Given the description of an element on the screen output the (x, y) to click on. 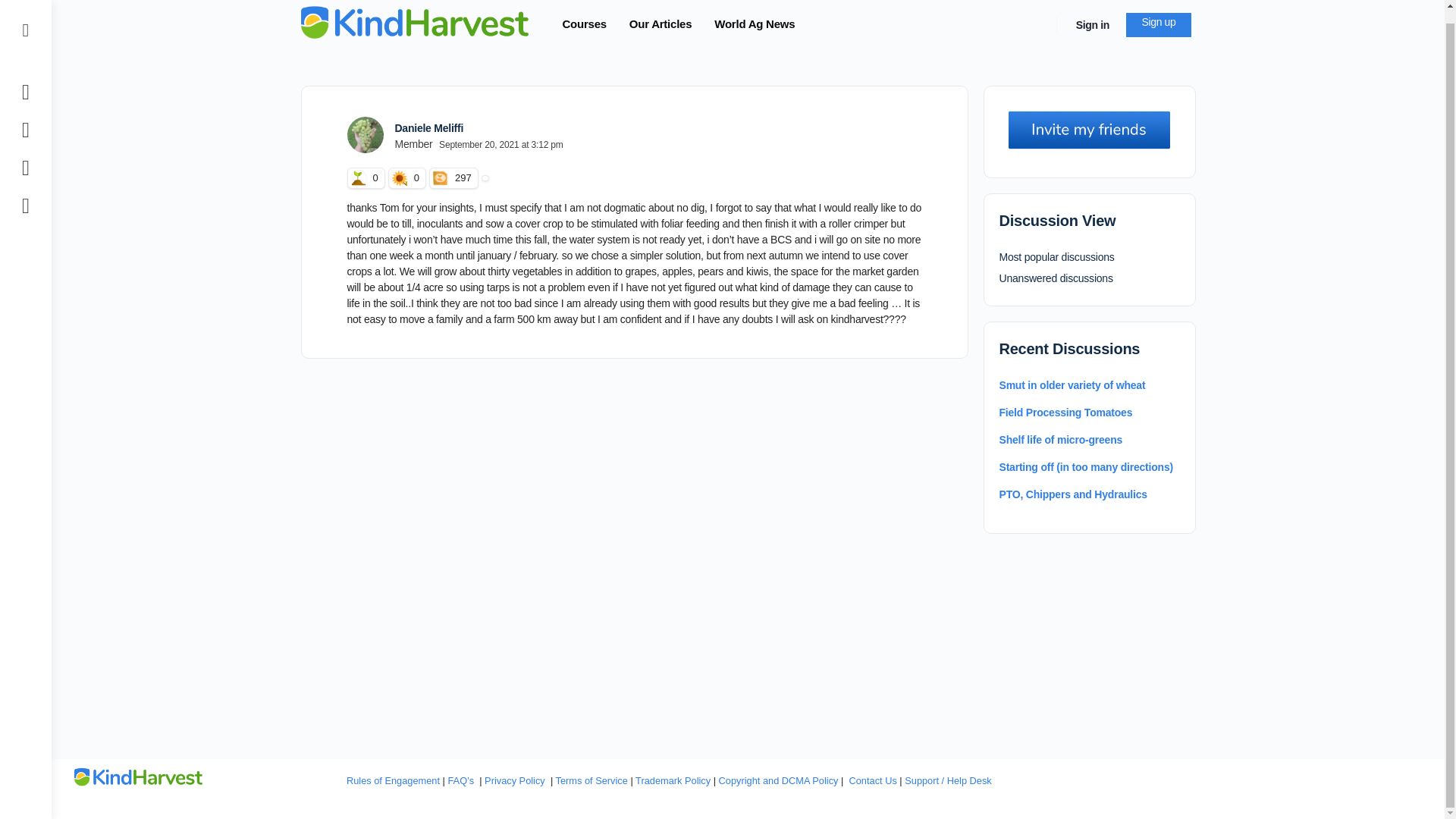
Courses (584, 27)
View Daniele Meliffi's profile (428, 128)
Sign up (1158, 24)
Most popular discussions (1056, 256)
PTO, Chippers and Hydraulics (1072, 494)
View Daniele Meliffi's profile (365, 135)
Our Articles (659, 27)
Unanswered discussions (1055, 277)
Sign in (1092, 24)
World Ag News (754, 27)
Smut in older variety of wheat (1071, 385)
Field Processing Tomatoes (1065, 412)
Shelf life of micro-greens (1060, 439)
Rules of Engagement (392, 780)
Daniele Meliffi (428, 128)
